Given the description of an element on the screen output the (x, y) to click on. 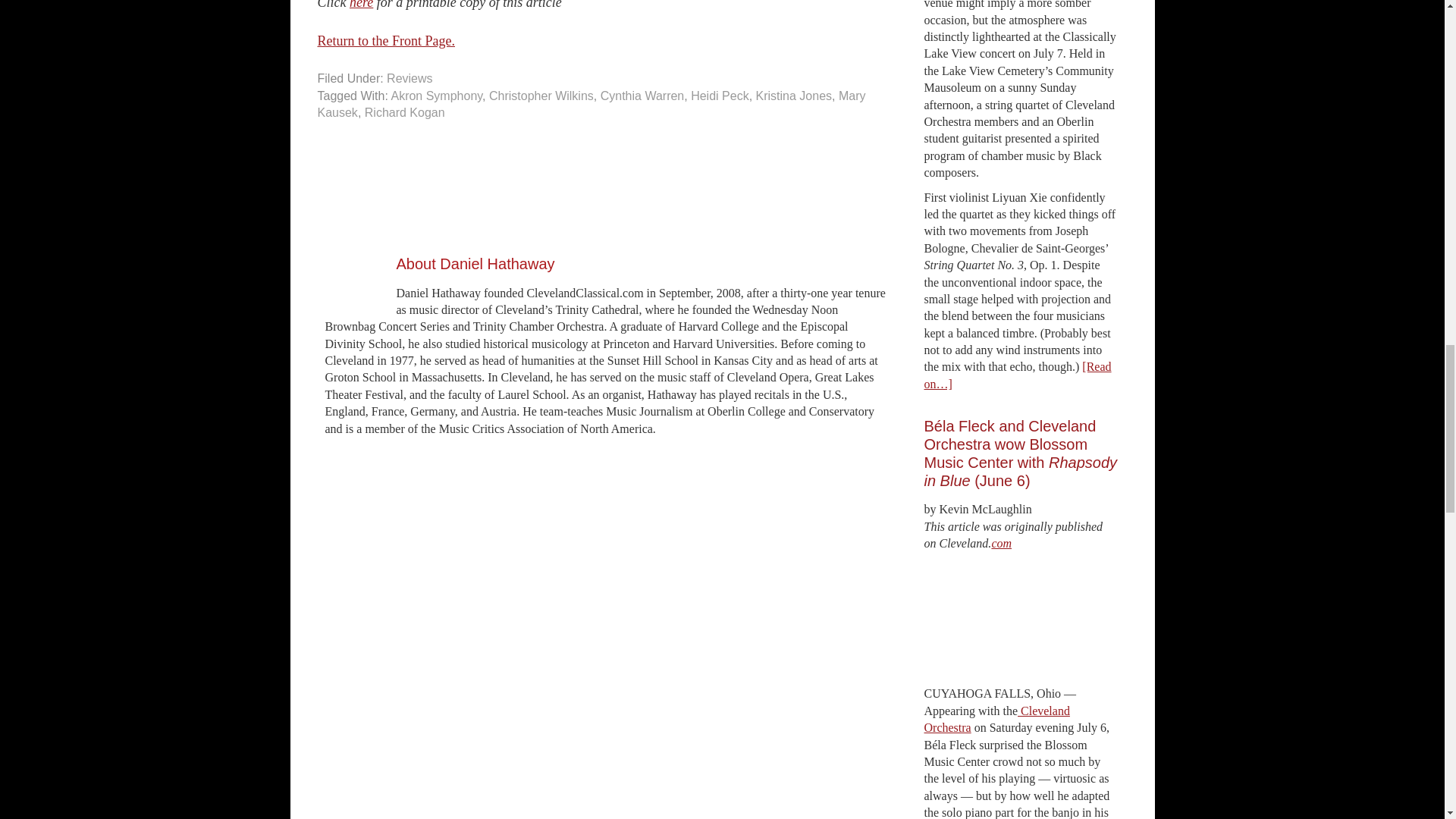
Cynthia Warren (641, 95)
Reviews (409, 78)
Return to the Front Page. (385, 40)
Mary Kausek (590, 103)
here (360, 4)
Akron Symphony (435, 95)
Cleveland Orchestra (995, 718)
Richard Kogan (405, 112)
Christopher Wilkins (541, 95)
Heidi Peck (719, 95)
Kristina Jones (793, 95)
com (1001, 543)
